Given the description of an element on the screen output the (x, y) to click on. 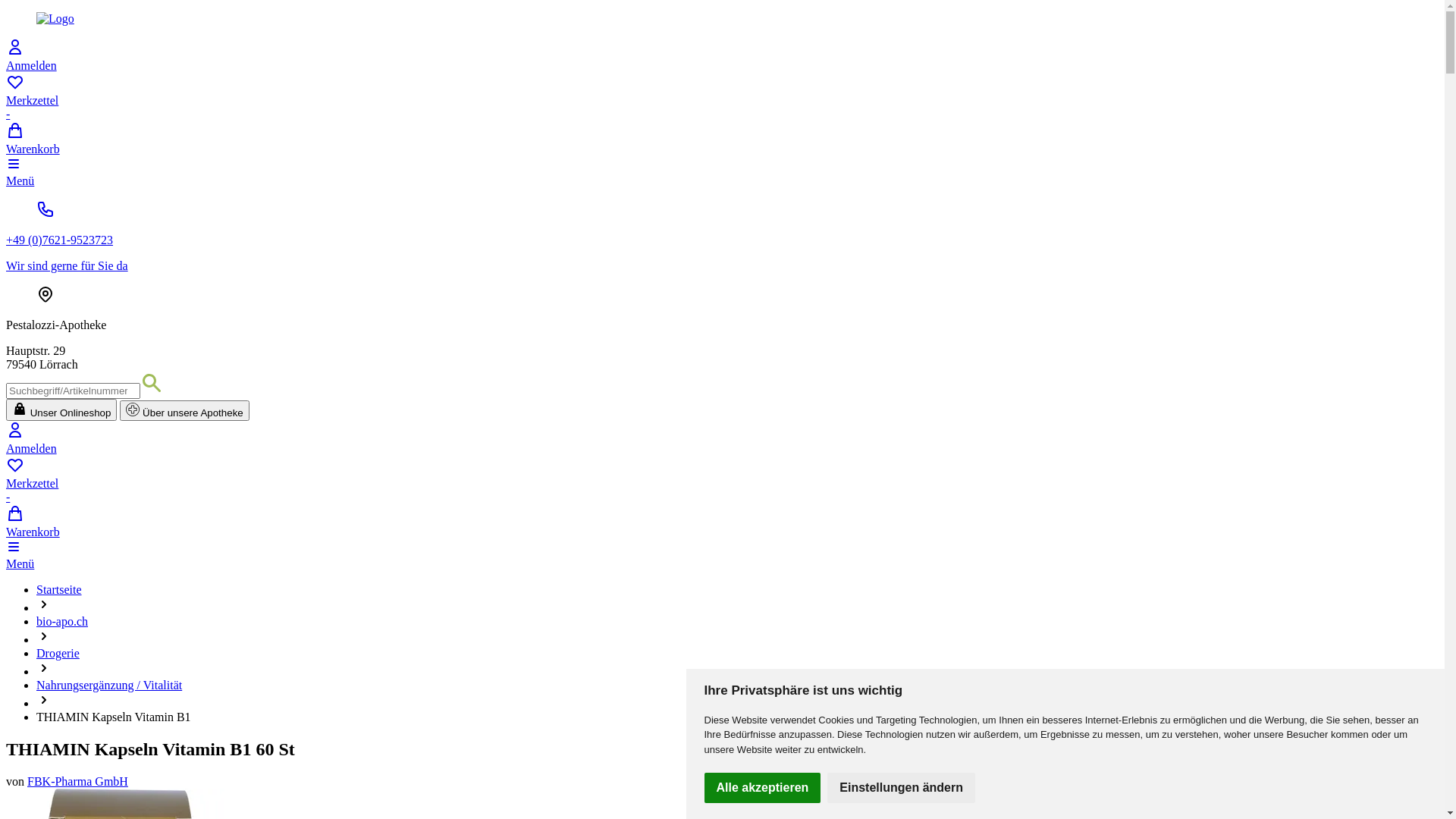
Merkzettel Element type: text (722, 479)
Unser Onlineshop Element type: text (61, 409)
Anmelden Element type: text (722, 437)
Alle akzeptieren Element type: text (761, 787)
FBK-Pharma GmbH Element type: text (77, 781)
Anmelden Element type: text (722, 54)
Startseite Element type: text (58, 589)
-
Warenkorb Element type: text (722, 521)
Drogerie Element type: text (57, 652)
-
Warenkorb Element type: text (722, 138)
bio-apo.ch Element type: text (61, 621)
Merkzettel Element type: text (722, 96)
